Given the description of an element on the screen output the (x, y) to click on. 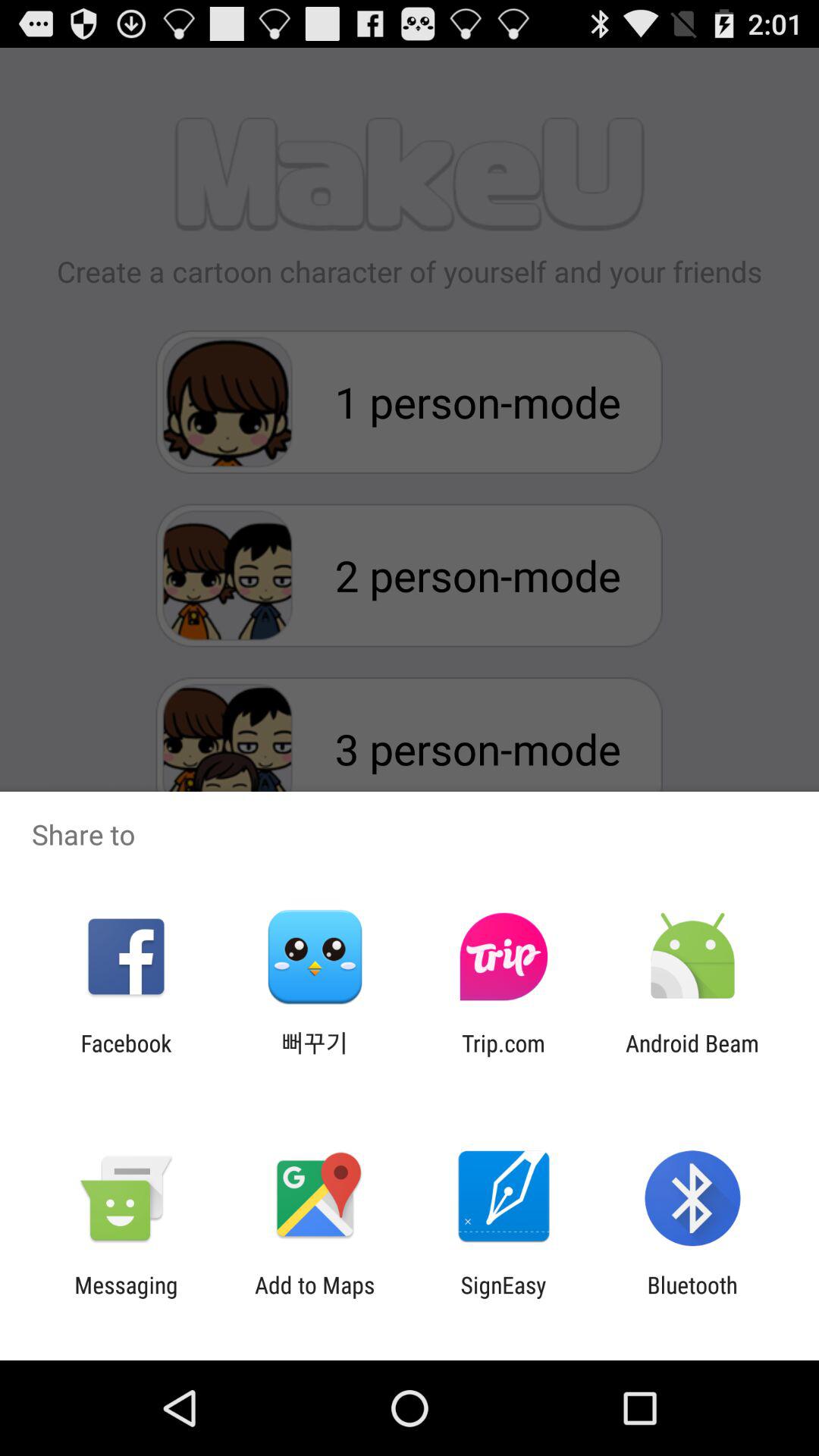
flip to bluetooth icon (692, 1298)
